Given the description of an element on the screen output the (x, y) to click on. 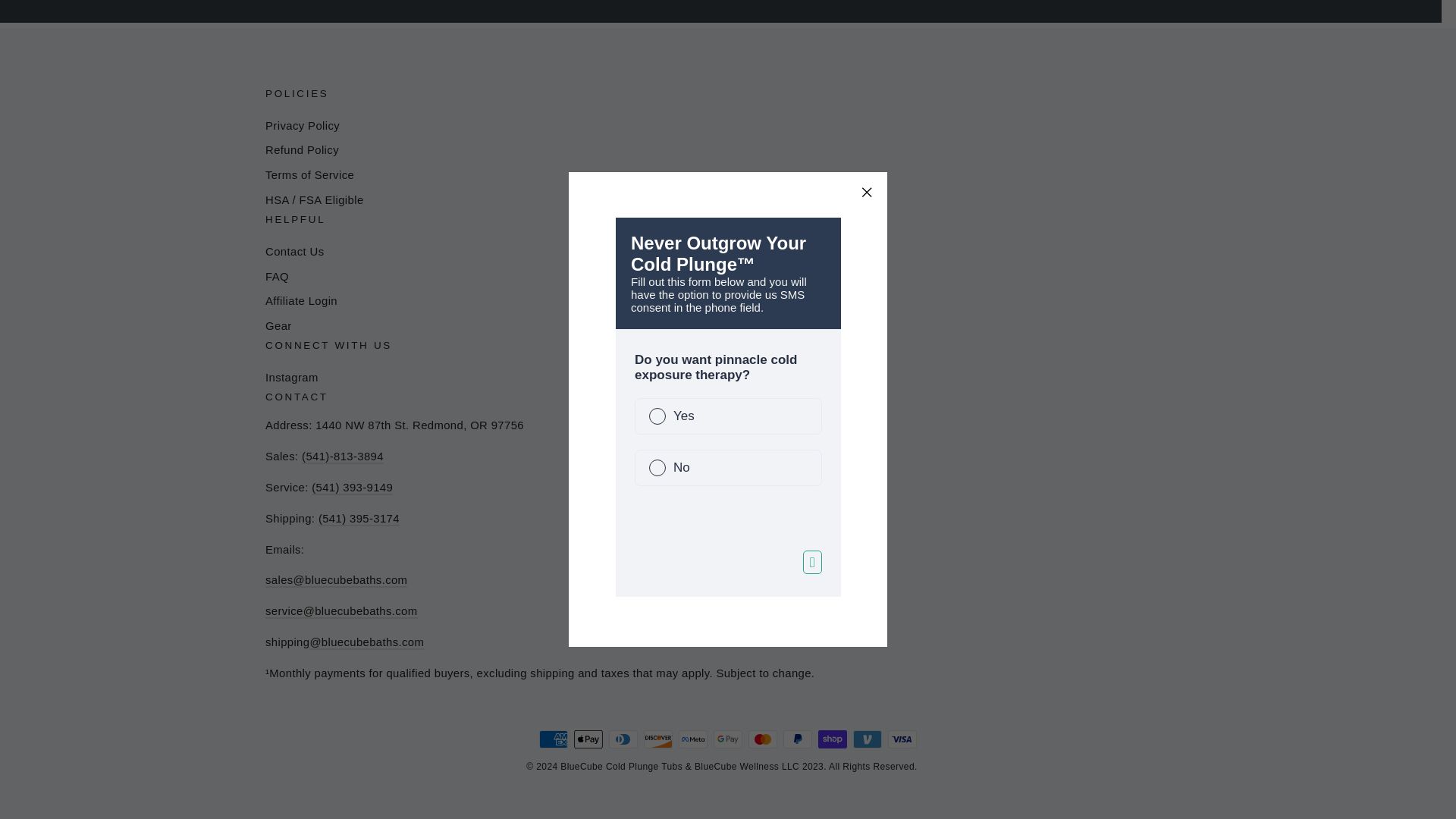
Meta Pay (692, 739)
American Express (552, 739)
Google Pay (727, 739)
PayPal (797, 739)
Venmo (867, 739)
Diners Club (622, 739)
Apple Pay (587, 739)
Visa (902, 739)
Discover (657, 739)
Mastercard (762, 739)
Shop Pay (832, 739)
